Given the description of an element on the screen output the (x, y) to click on. 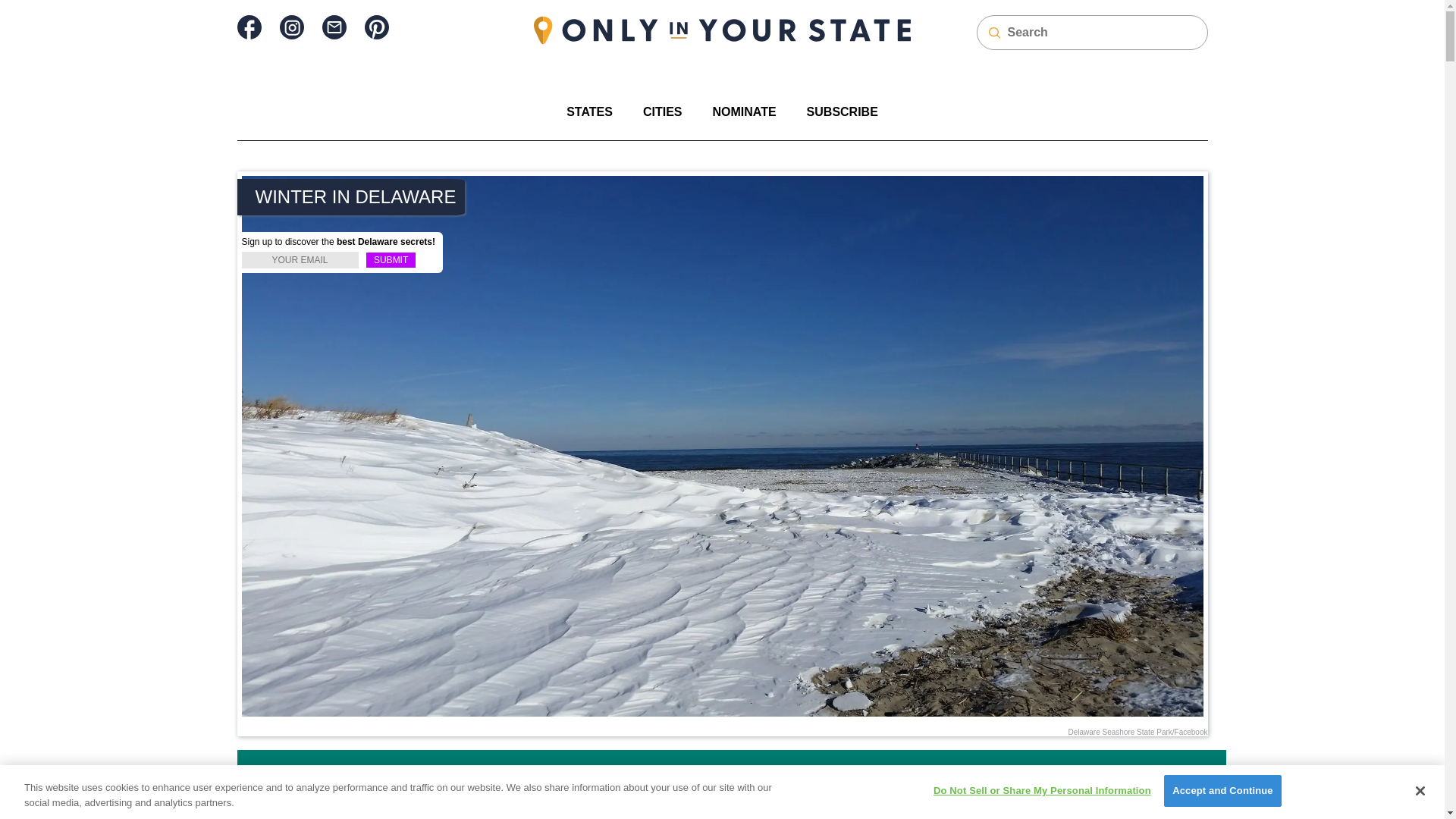
pinterest (376, 27)
Search (21, 7)
facebook (247, 27)
STATES (589, 111)
Only in Your State (722, 30)
instagram (290, 27)
newsletter (333, 27)
